Given the description of an element on the screen output the (x, y) to click on. 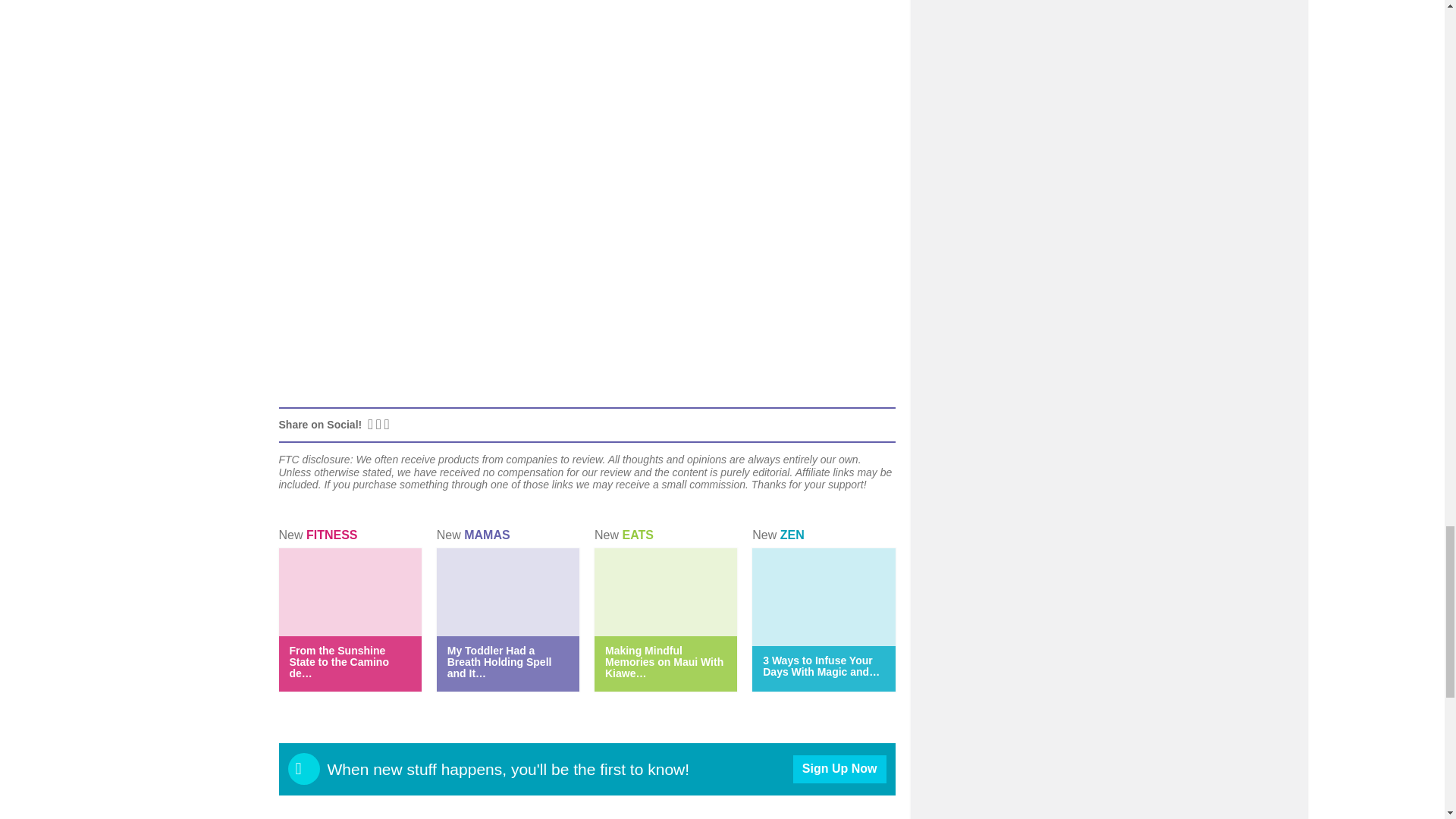
From the Sunshine State to the Camino de Santiago (338, 661)
My Toddler Had a Breath Holding Spell and It Was Scary AF (498, 661)
3 Ways to Infuse Your Days With Magic and Meaning (820, 666)
Making Mindful Memories on Maui With Kiawe Outdoor (664, 661)
